Given the description of an element on the screen output the (x, y) to click on. 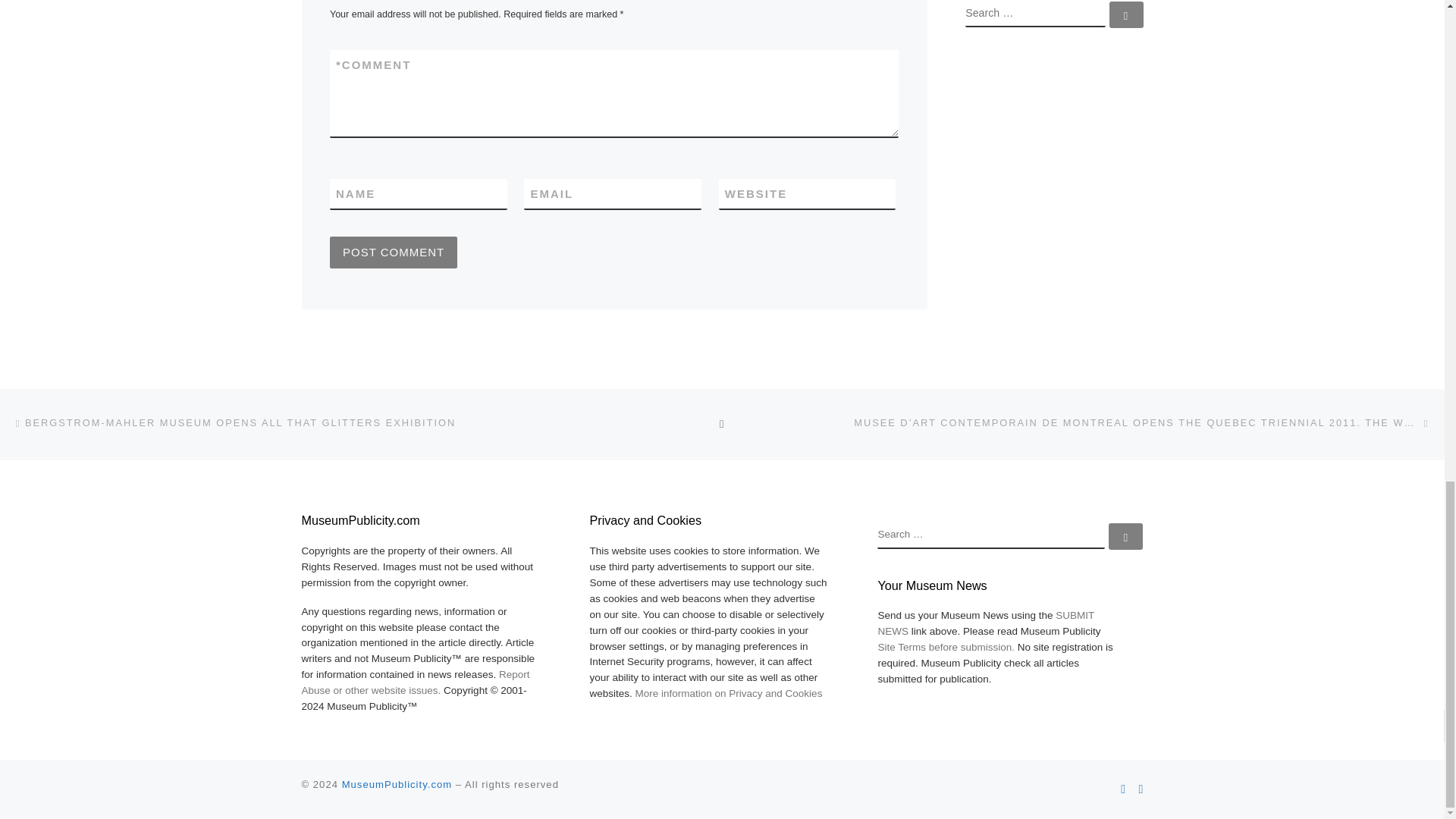
Back to post list (722, 422)
MuseumPublicity.com (397, 784)
Post Comment (393, 252)
Post Comment (393, 252)
Subscribe to my rss feed (1123, 788)
Follow us on Twitter (1140, 788)
